Given the description of an element on the screen output the (x, y) to click on. 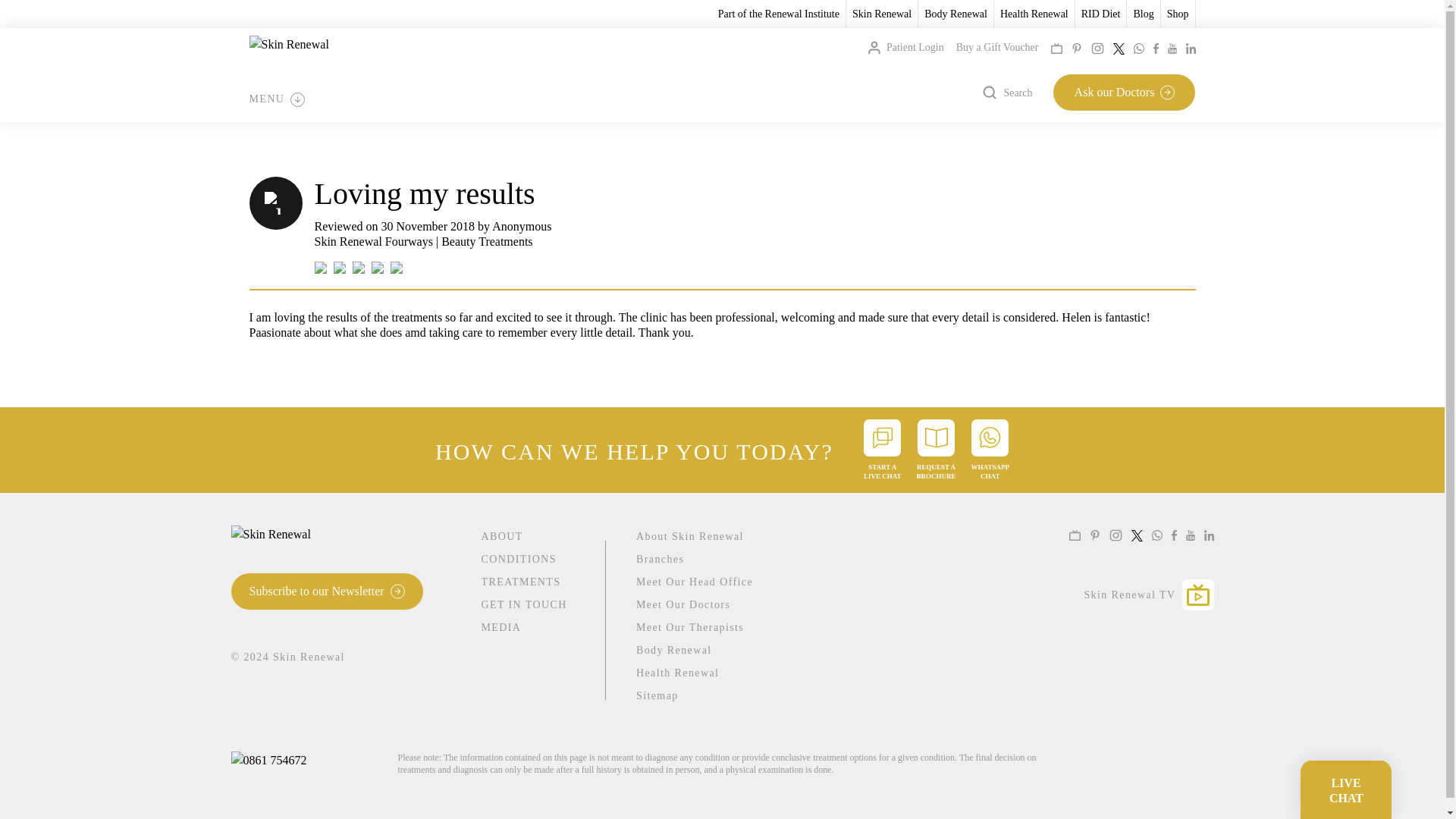
Body Renewal (955, 13)
Blog (1142, 13)
Patient Login (905, 47)
Health Renewal (1034, 13)
Ask our Doctors (1123, 92)
Skin Renewal (881, 13)
Part of the Renewal Institute (778, 13)
Buy a Gift Voucher (997, 47)
MENU (276, 98)
Shop (1178, 13)
RID Diet (1101, 13)
Search (1006, 92)
